Given the description of an element on the screen output the (x, y) to click on. 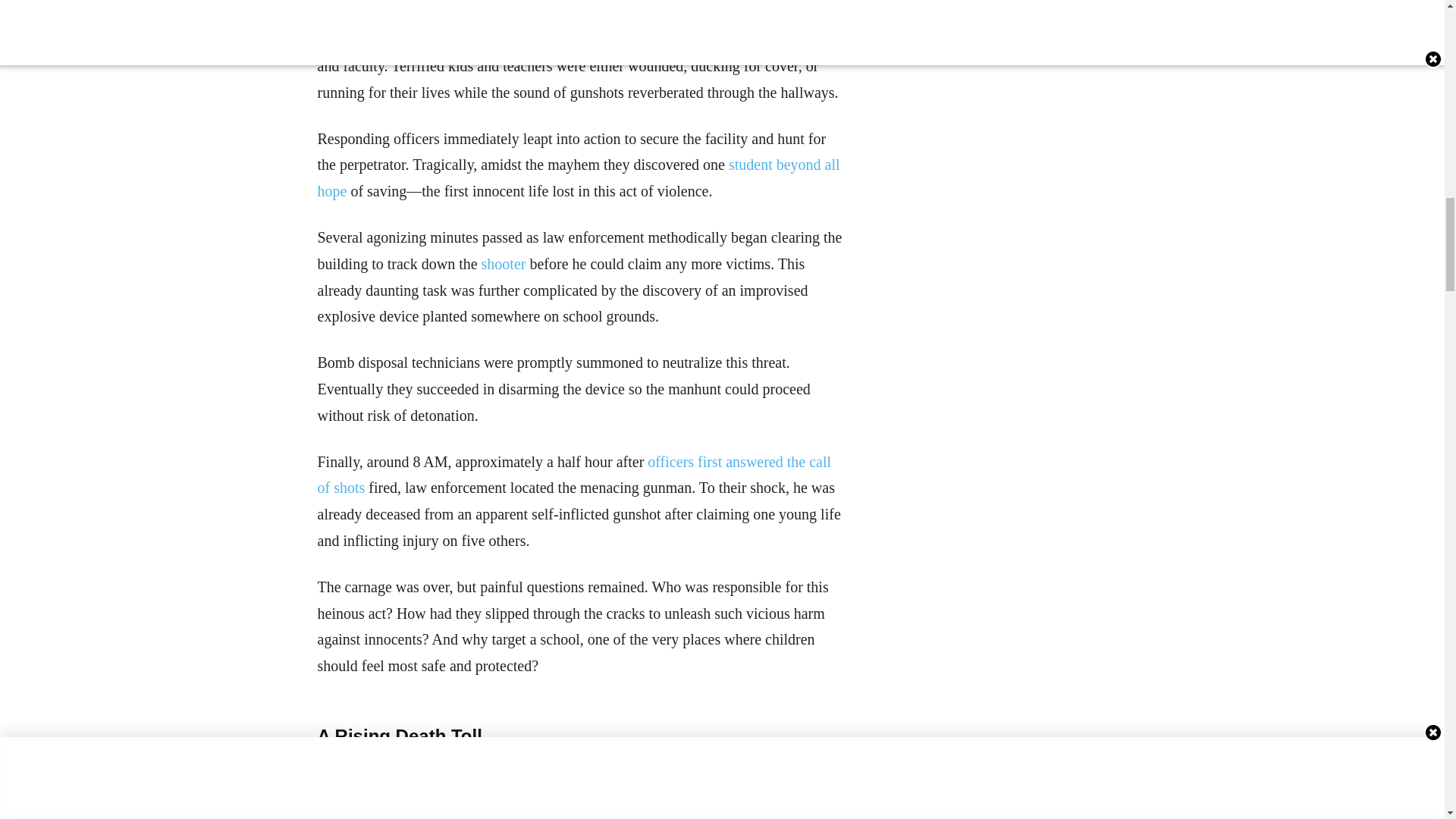
student beyond all hope (578, 177)
school and begun discharging them at students (682, 39)
